Given the description of an element on the screen output the (x, y) to click on. 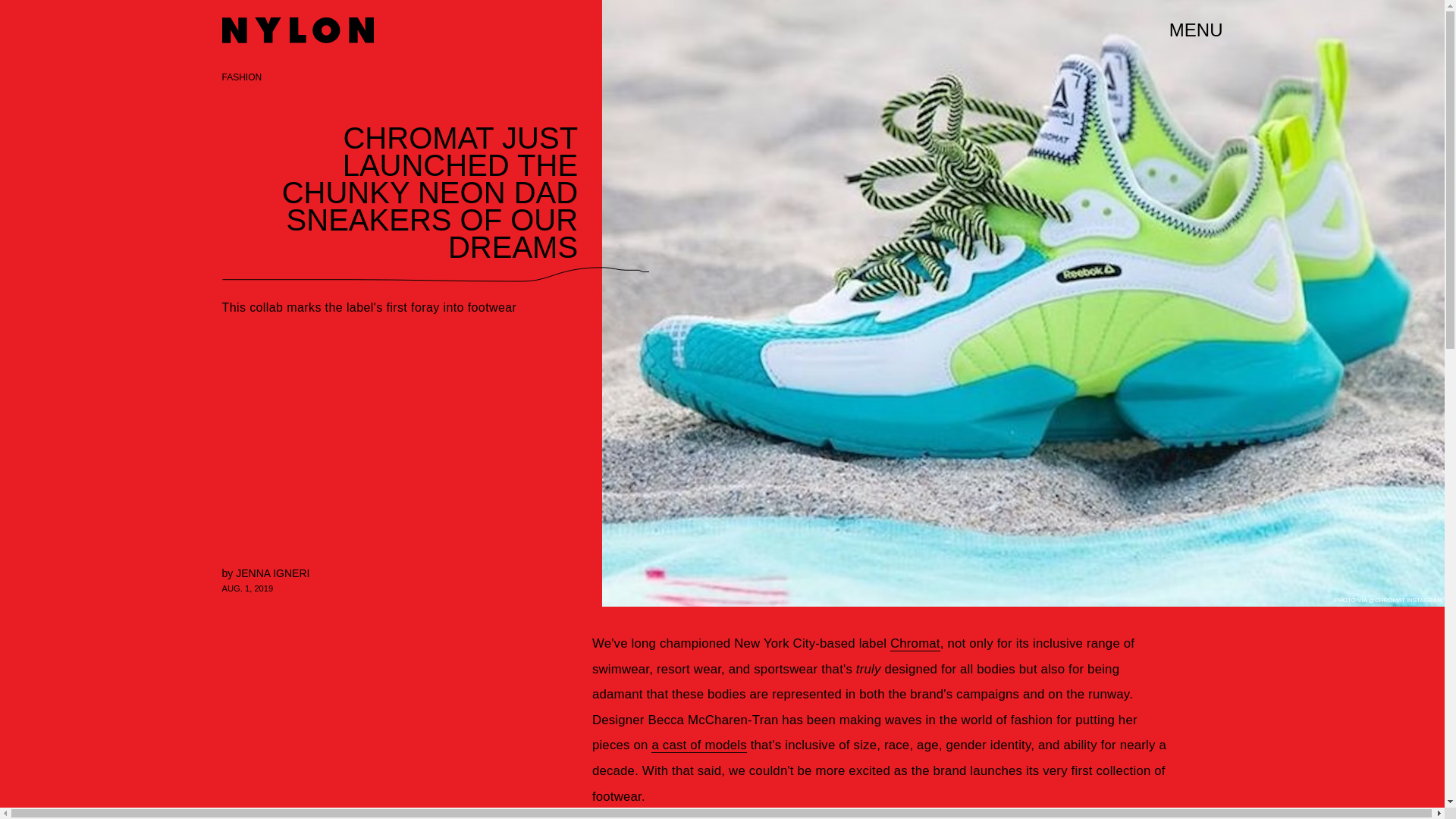
Chromat (914, 643)
a cast of models (697, 744)
Nylon (296, 30)
JENNA IGNERI (271, 573)
